Given the description of an element on the screen output the (x, y) to click on. 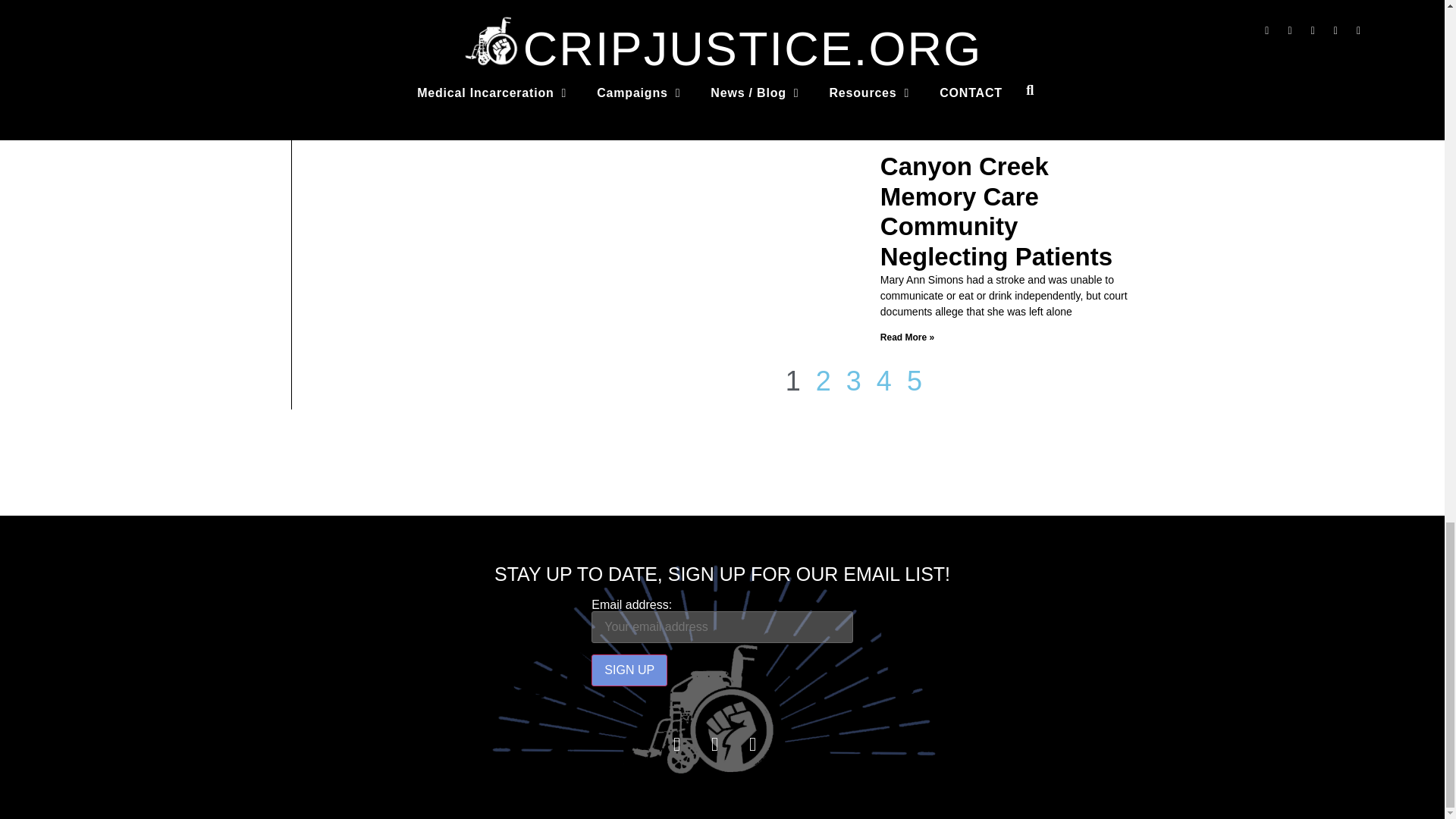
Sign up (628, 670)
